Given the description of an element on the screen output the (x, y) to click on. 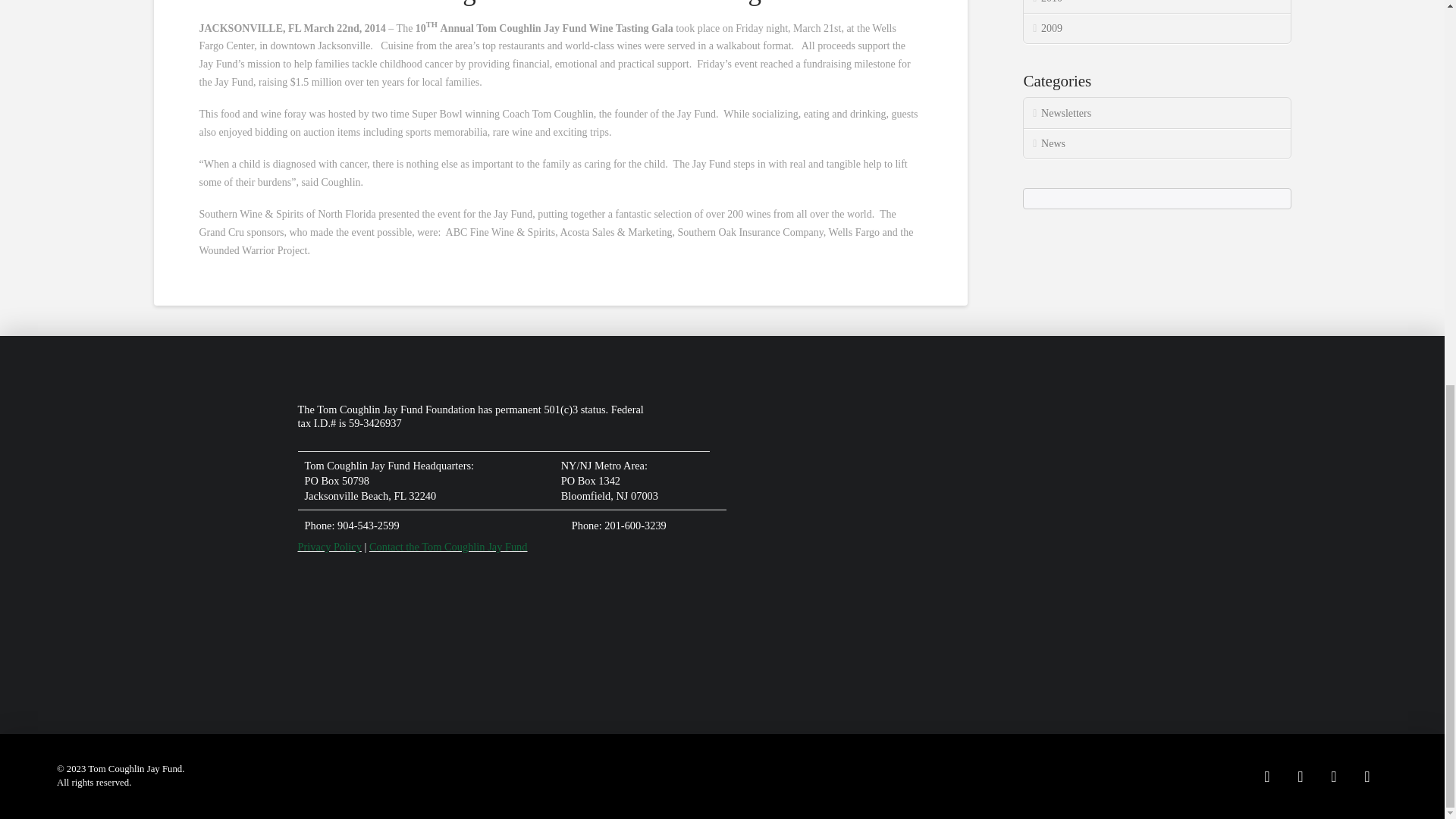
2009 (1156, 28)
Contact the Tom Coughlin Jay Fund (448, 546)
2010 (1156, 6)
Newsletters (1156, 112)
News (1156, 143)
Privacy Policy (329, 546)
